Given the description of an element on the screen output the (x, y) to click on. 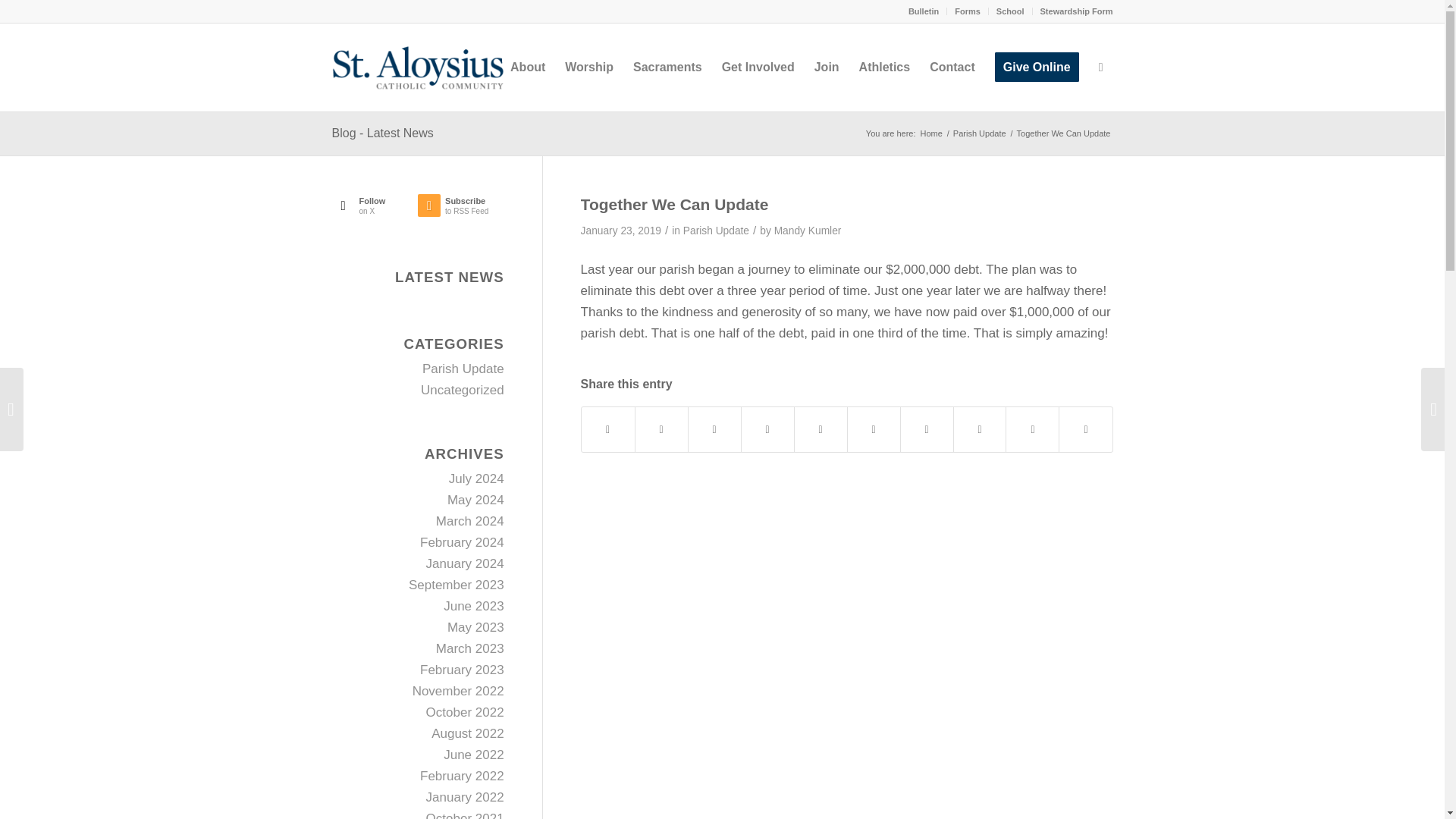
Sacraments (667, 67)
Forms (967, 11)
Mandy Kumler (807, 230)
Parish Update (979, 133)
Parish Update (462, 368)
Home (930, 133)
Posts by Mandy Kumler (807, 230)
Give Online (1037, 67)
Permanent Link: Blog - Latest News (382, 132)
School (1010, 11)
Stewardship Form (1077, 11)
Get Involved (758, 67)
Parish Update (460, 209)
